Given the description of an element on the screen output the (x, y) to click on. 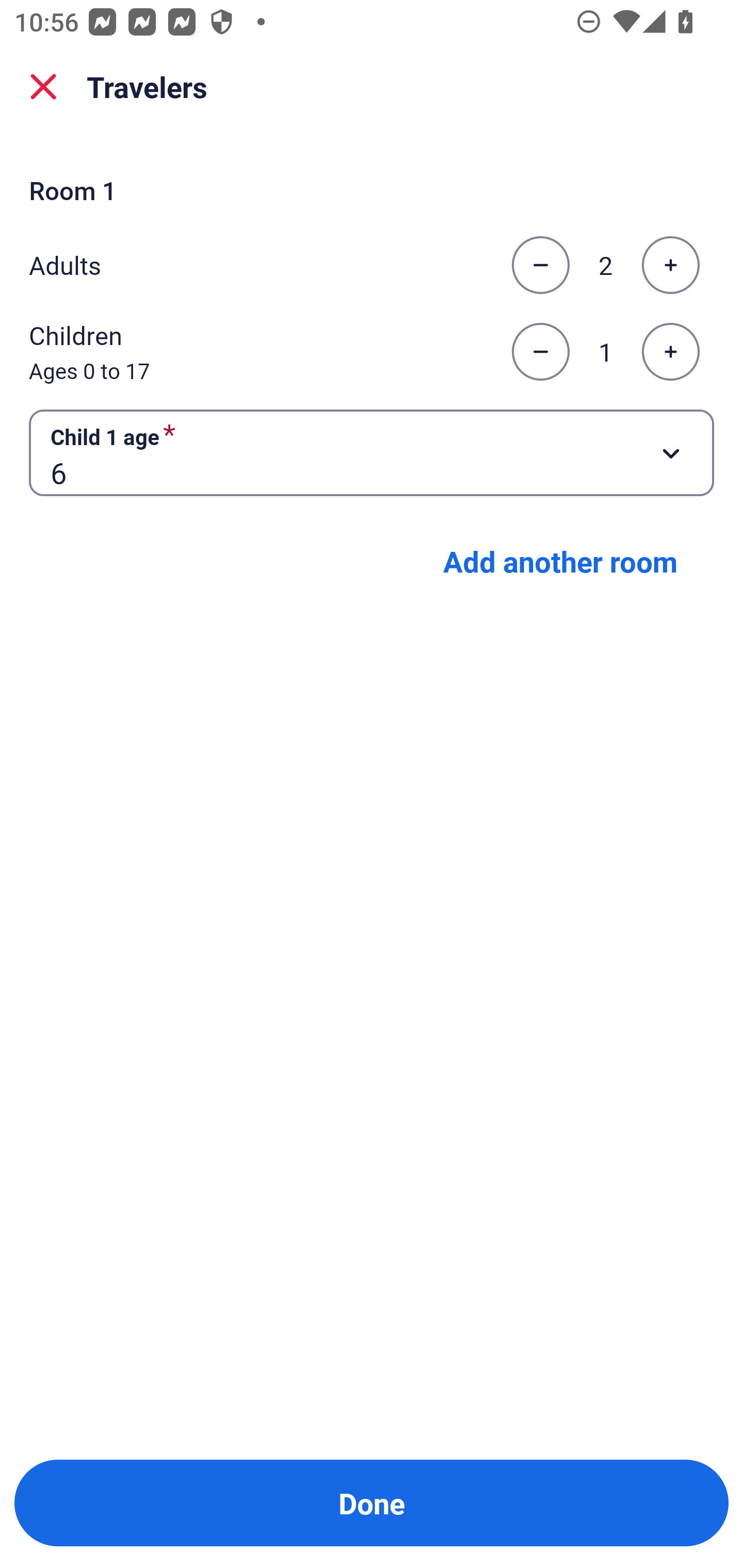
close (43, 86)
Decrease the number of adults (540, 264)
Increase the number of adults (670, 264)
Decrease the number of children (540, 351)
Increase the number of children (670, 351)
Child 1 age required Button 6 (371, 452)
Add another room (560, 561)
Done (371, 1502)
